Given the description of an element on the screen output the (x, y) to click on. 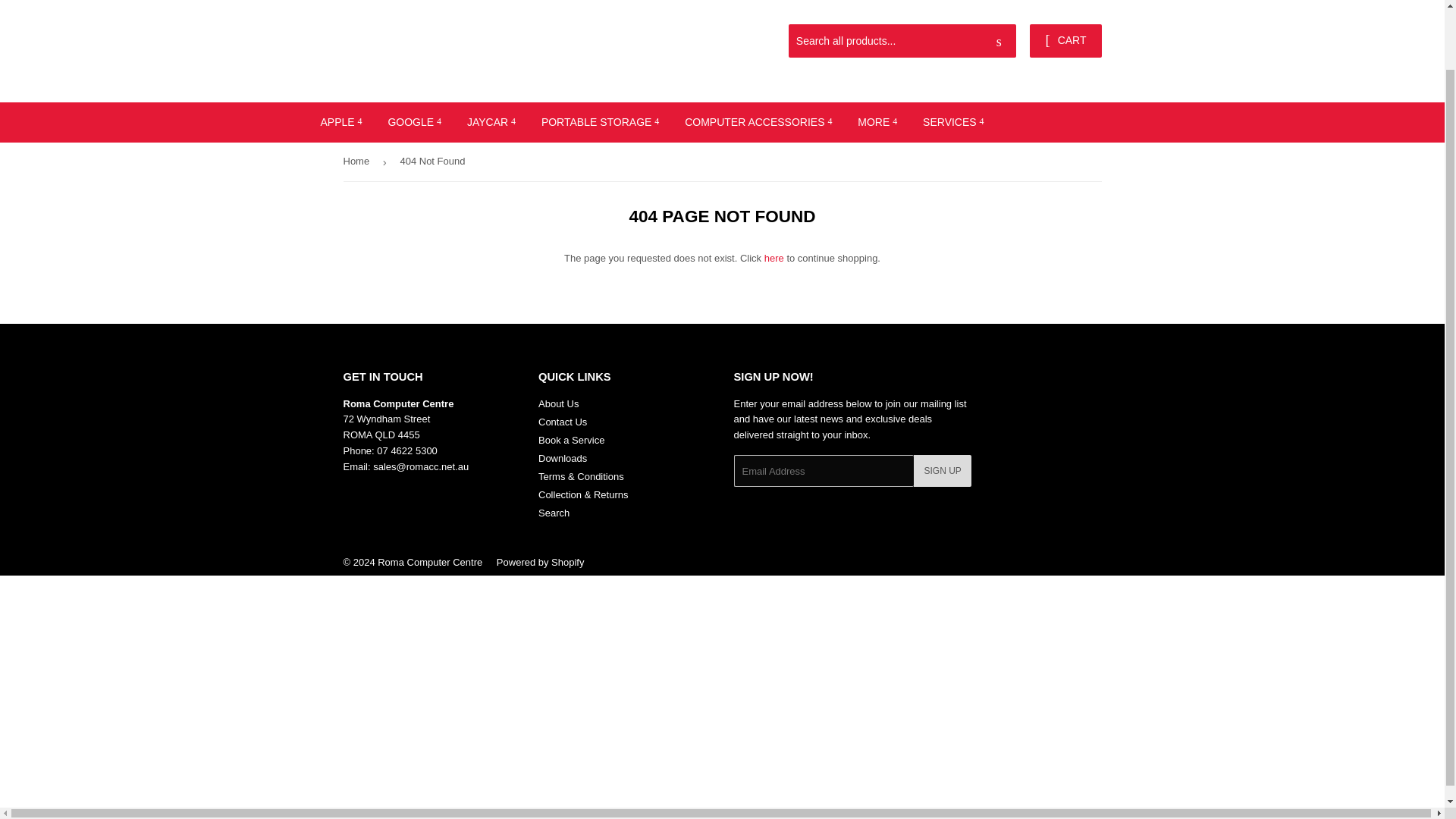
Search (998, 41)
CART (1064, 40)
